Given the description of an element on the screen output the (x, y) to click on. 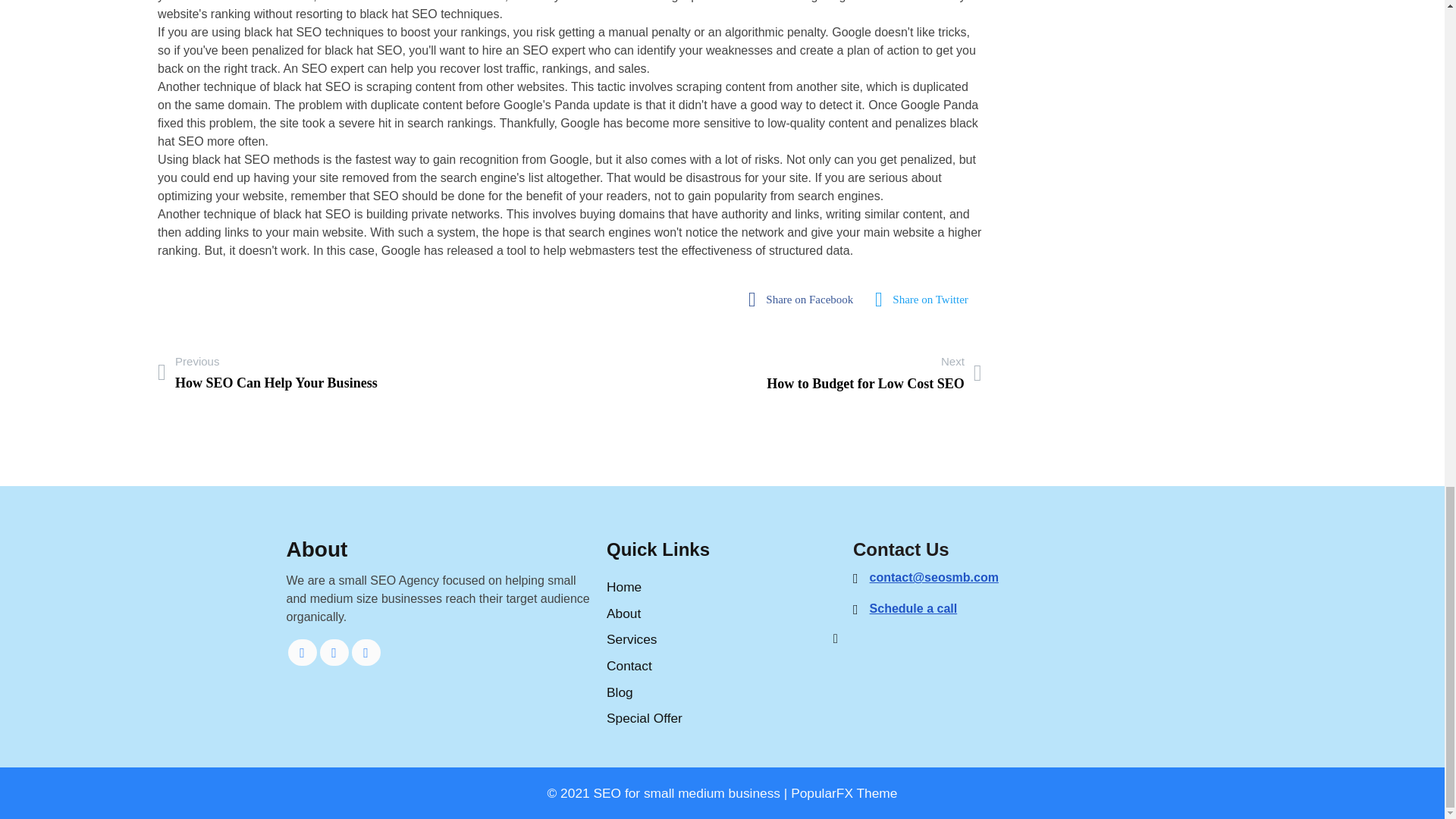
fab fa-instagram (267, 372)
About (366, 652)
Home (722, 613)
fab fa-twitter (722, 587)
fab fa-twitter-square (334, 652)
fab fa-facebook-f (925, 299)
Share on Twitter (302, 652)
Share on Facebook (925, 299)
Blog (804, 299)
Special Offer (722, 692)
Contact (722, 718)
Services (722, 666)
fab fa-facebook-square (722, 639)
